Given the description of an element on the screen output the (x, y) to click on. 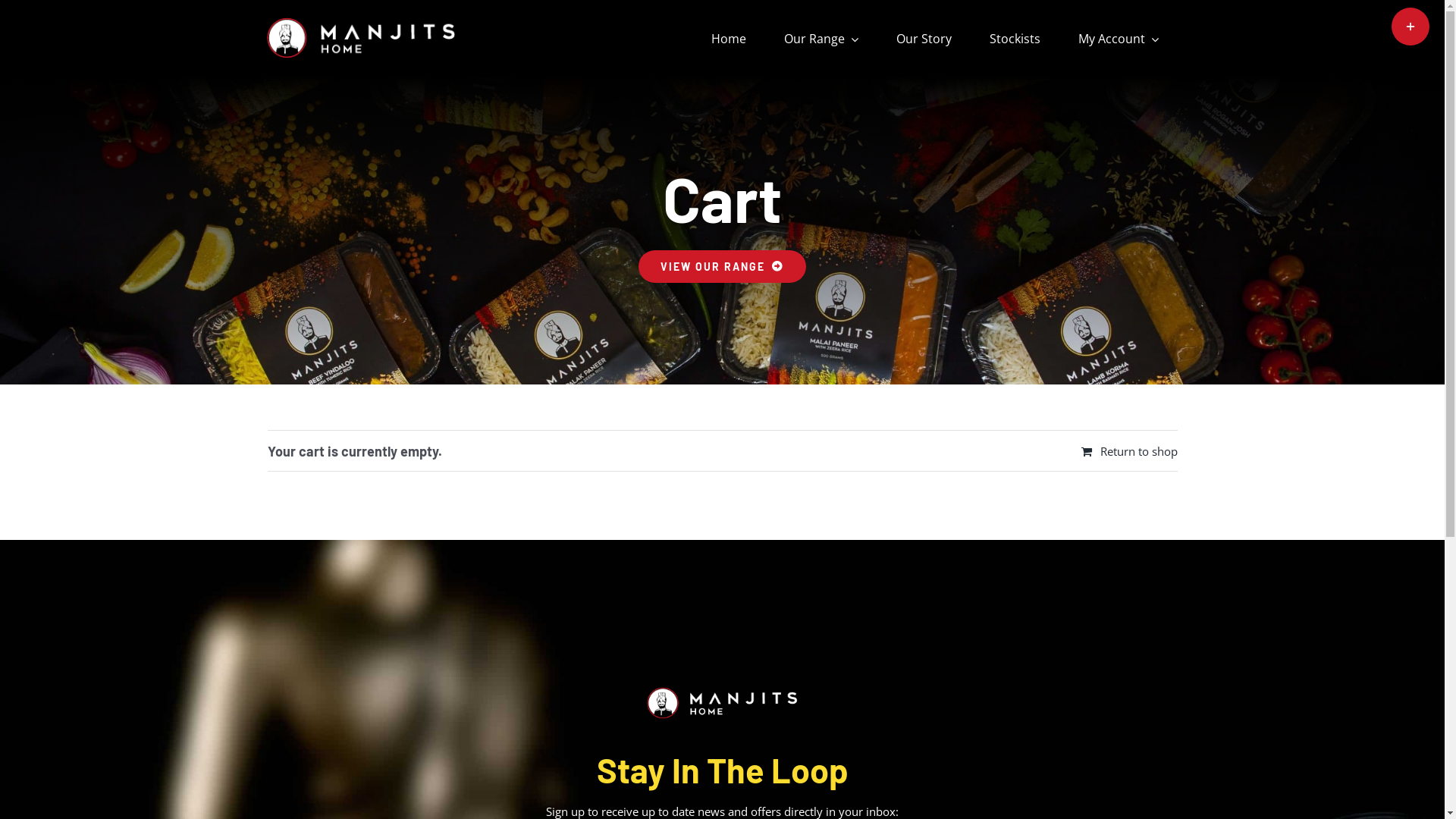
Our Story Element type: text (923, 37)
VIEW OUR RANGE Element type: text (722, 266)
Our Range Element type: text (821, 37)
Return to shop Element type: text (1129, 450)
Stockists Element type: text (1014, 37)
Toggle Sliding Bar Area Element type: text (1410, 26)
ManjitsHomeLogox2 Element type: hover (721, 703)
Home Element type: text (728, 37)
My Account Element type: text (1118, 37)
